Given the description of an element on the screen output the (x, y) to click on. 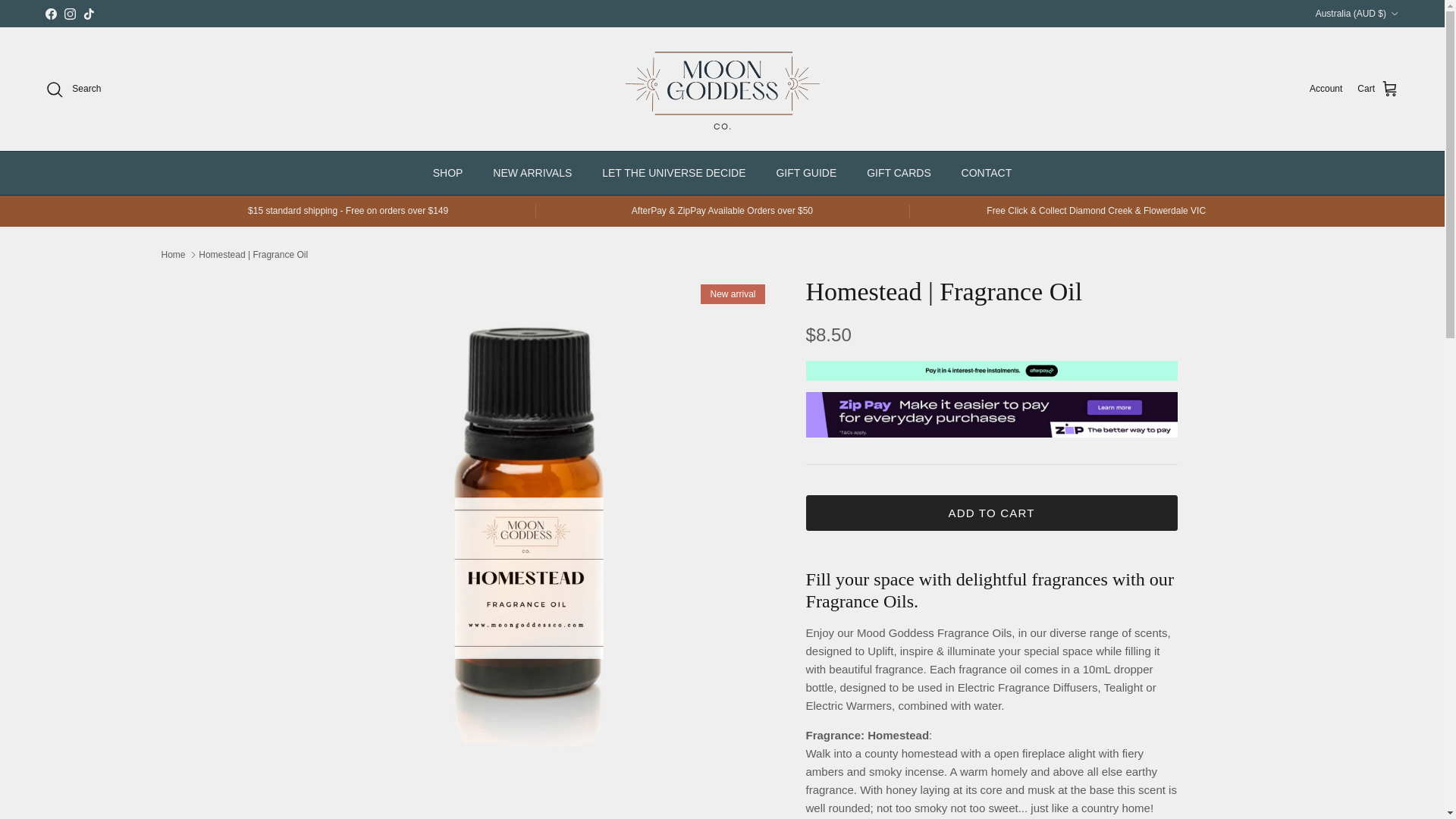
Search (72, 89)
Moon Goddess Co on Facebook (50, 12)
Account (1325, 88)
Cart (1377, 89)
TikTok (88, 12)
Moon Goddess Co on TikTok (88, 12)
Instagram (69, 12)
Facebook (50, 12)
Moon Goddess Co (721, 88)
SHOP (448, 172)
Moon Goddess Co on Instagram (69, 12)
